Given the description of an element on the screen output the (x, y) to click on. 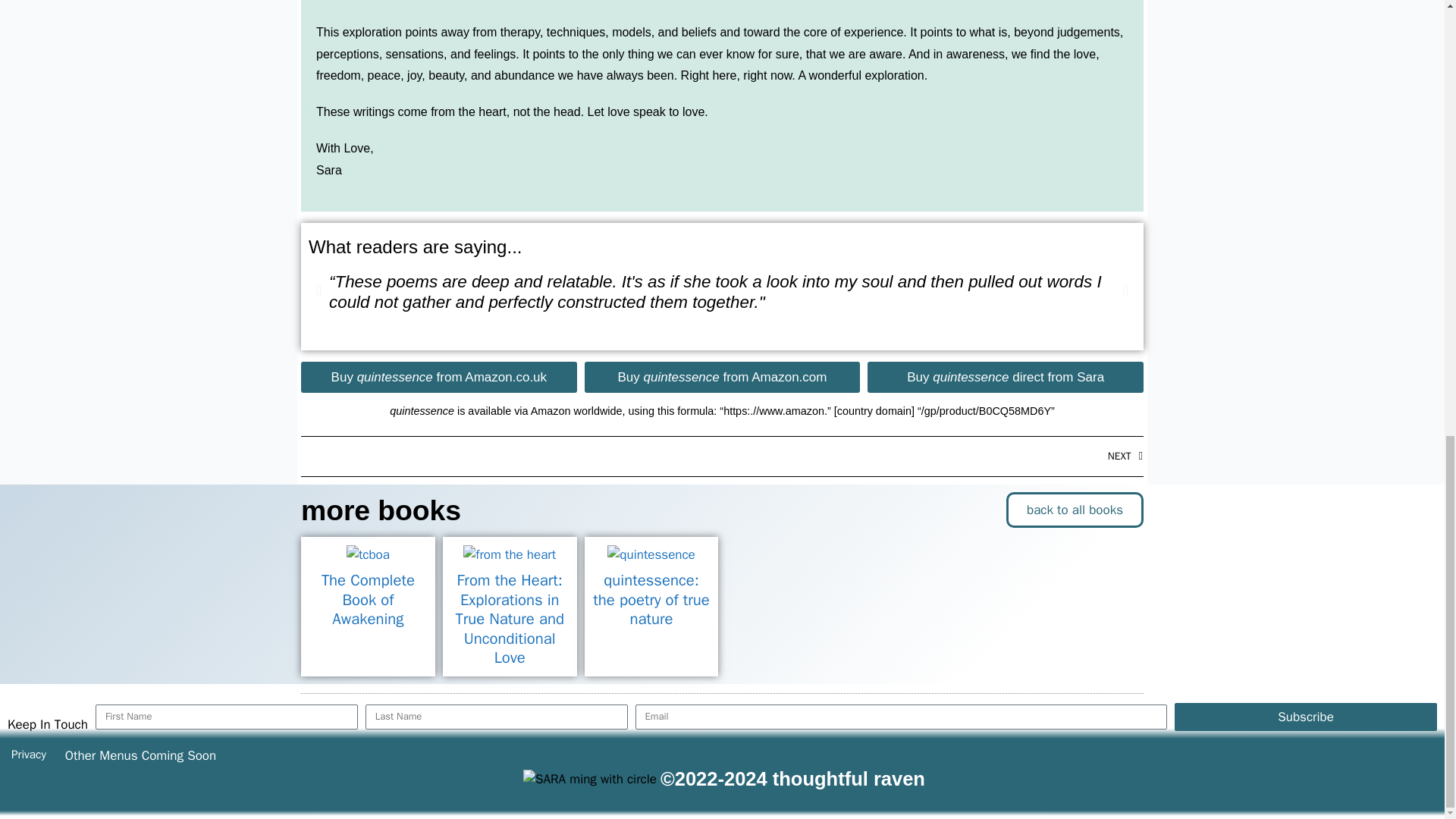
Buy quintessence from Amazon.com (722, 377)
Subscribe (1305, 716)
The Complete Book of Awakening (368, 606)
tcboa (368, 555)
SARA ming with circle (589, 779)
back to all books (1074, 509)
quintessence (650, 555)
Buy quintessence from Amazon.co.uk (438, 377)
quintessence: the poetry of true nature (652, 606)
from the heart (509, 555)
